Given the description of an element on the screen output the (x, y) to click on. 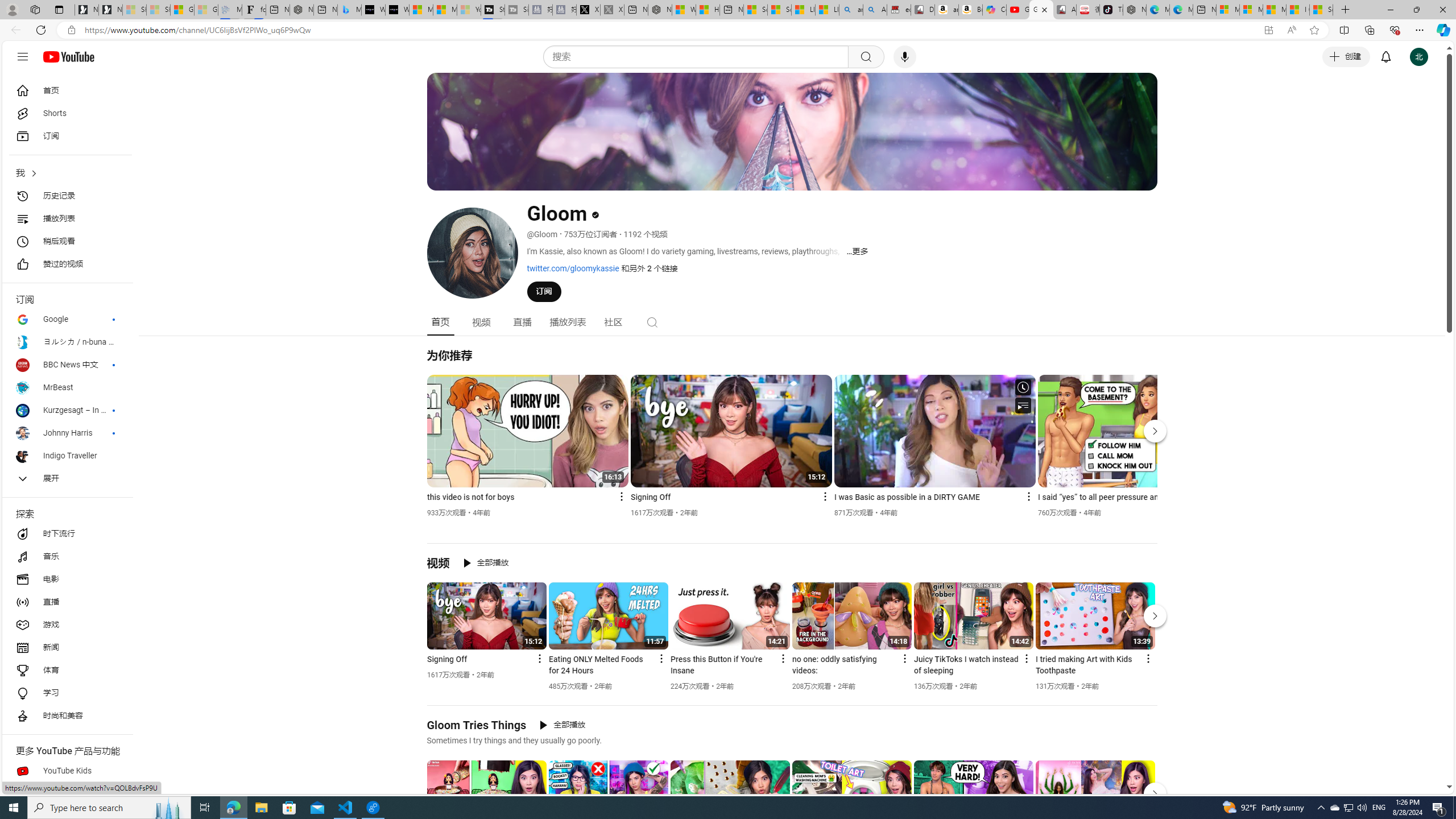
Indigo Traveller (66, 455)
I Gained 20 Pounds of Muscle in 30 Days! | Watch (1297, 9)
